Given the description of an element on the screen output the (x, y) to click on. 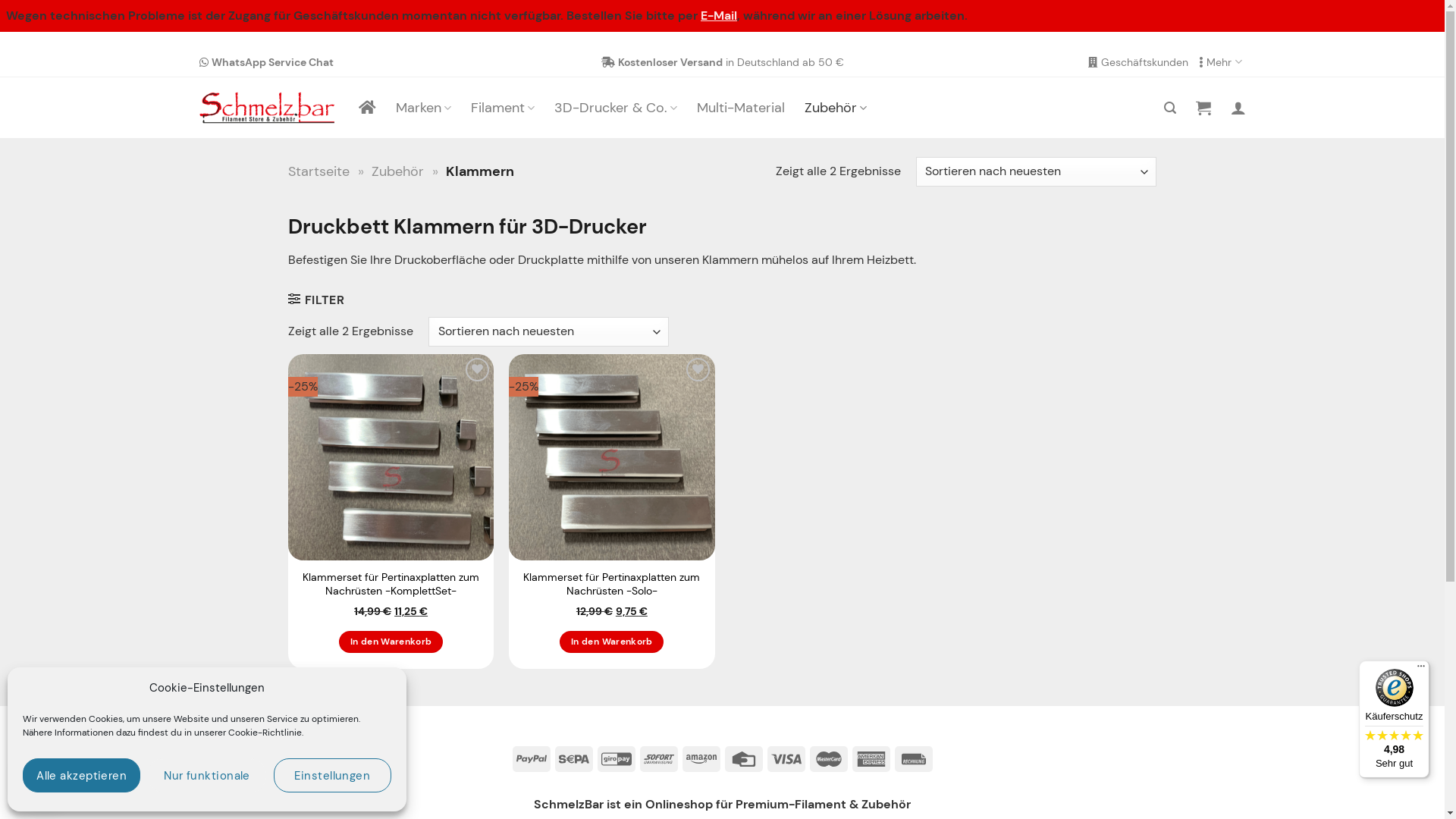
Warenkorb Element type: hover (1202, 107)
Cookie-Richtlinie Element type: text (264, 732)
Filament Element type: text (502, 107)
Alle akzeptieren Element type: text (81, 775)
 WhatsApp Service Chat Element type: text (265, 62)
Nur funktionale Element type: text (206, 775)
E-Mail Element type: text (718, 15)
Startseite Element type: text (318, 171)
3D-Drucker & Co. Element type: text (615, 107)
Mehr Element type: text (1221, 62)
Marken Element type: text (423, 107)
Multi-Material Element type: text (740, 107)
FILTER Element type: text (316, 299)
In den Warenkorb Element type: text (390, 641)
Einstellungen Element type: text (332, 775)
In den Warenkorb Element type: text (611, 641)
Zum Inhalt springen Element type: text (0, 47)
